Given the description of an element on the screen output the (x, y) to click on. 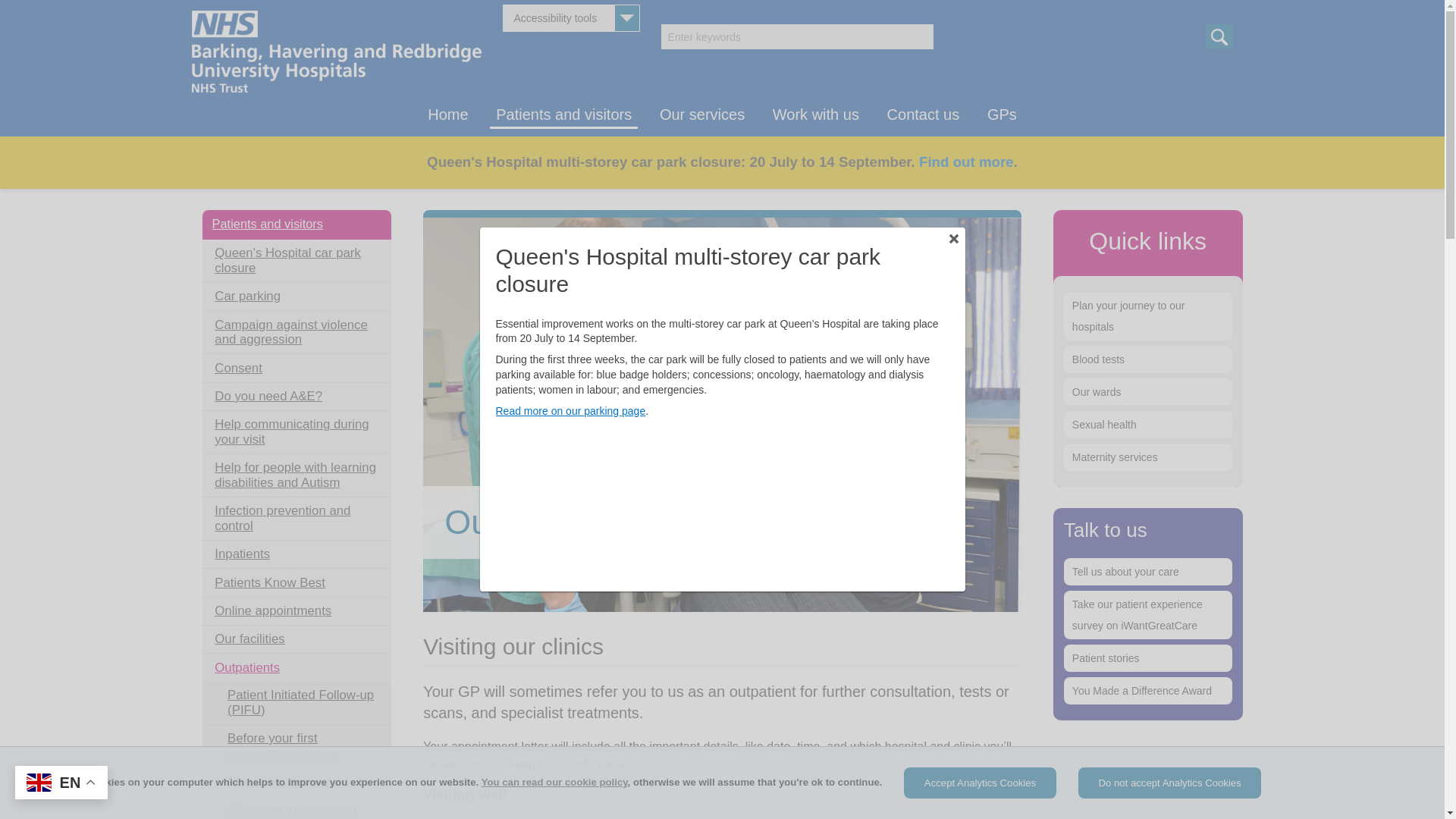
Search (1218, 36)
Cookies (554, 781)
Our services (702, 110)
Contact us (923, 110)
Find out more (965, 161)
Home (266, 180)
Patients and visitors (563, 110)
Search (1218, 36)
Skip to main content (74, 147)
search (797, 36)
GPs (1002, 110)
Home (448, 110)
Work with us (815, 110)
Read more on our parking page (571, 410)
Do not accept Analytics Cookies (1169, 782)
